Given the description of an element on the screen output the (x, y) to click on. 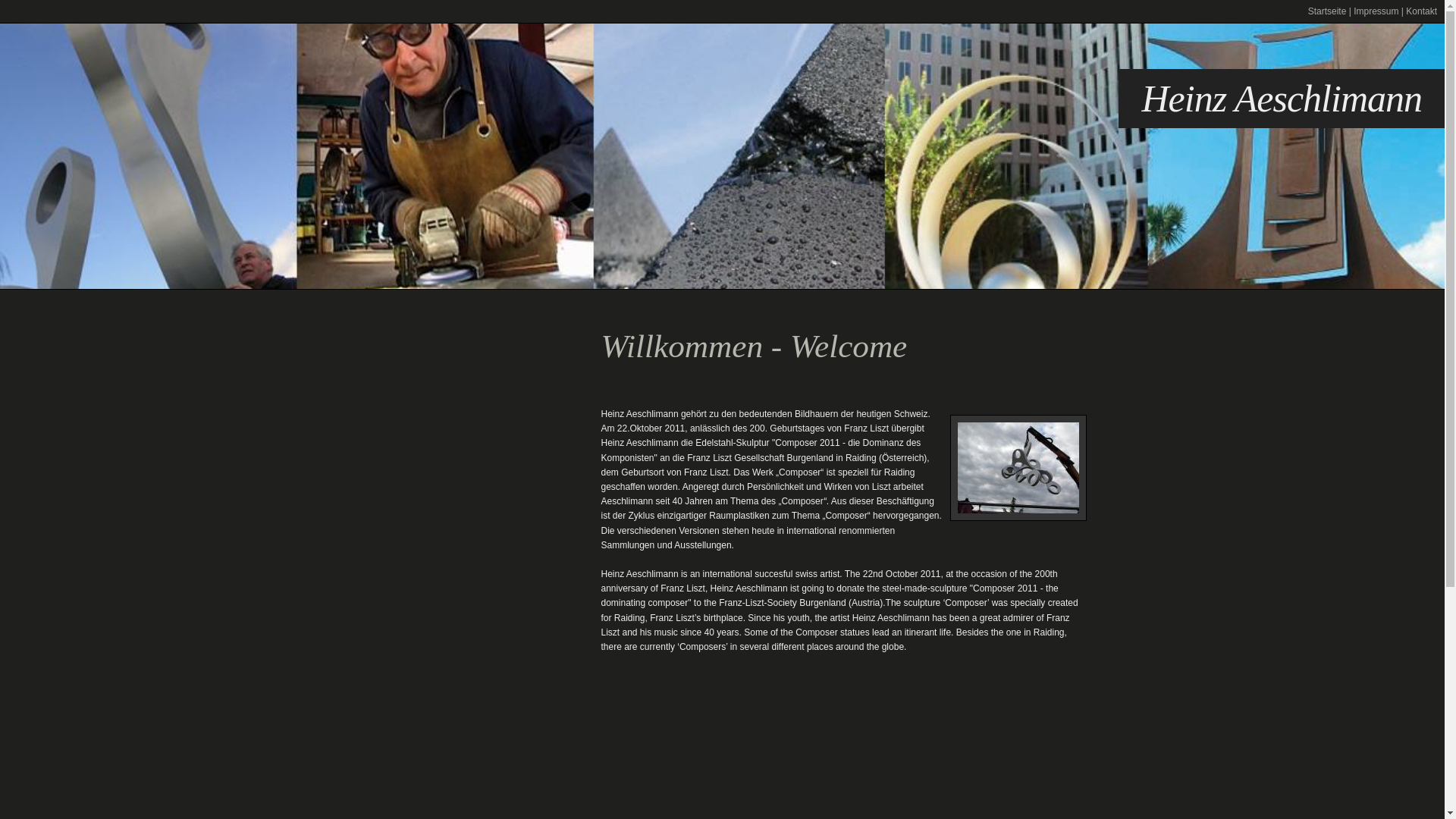
Impressum Element type: text (1375, 11)
Kontakt Element type: text (1421, 11)
Startseite Element type: text (1327, 11)
